Given the description of an element on the screen output the (x, y) to click on. 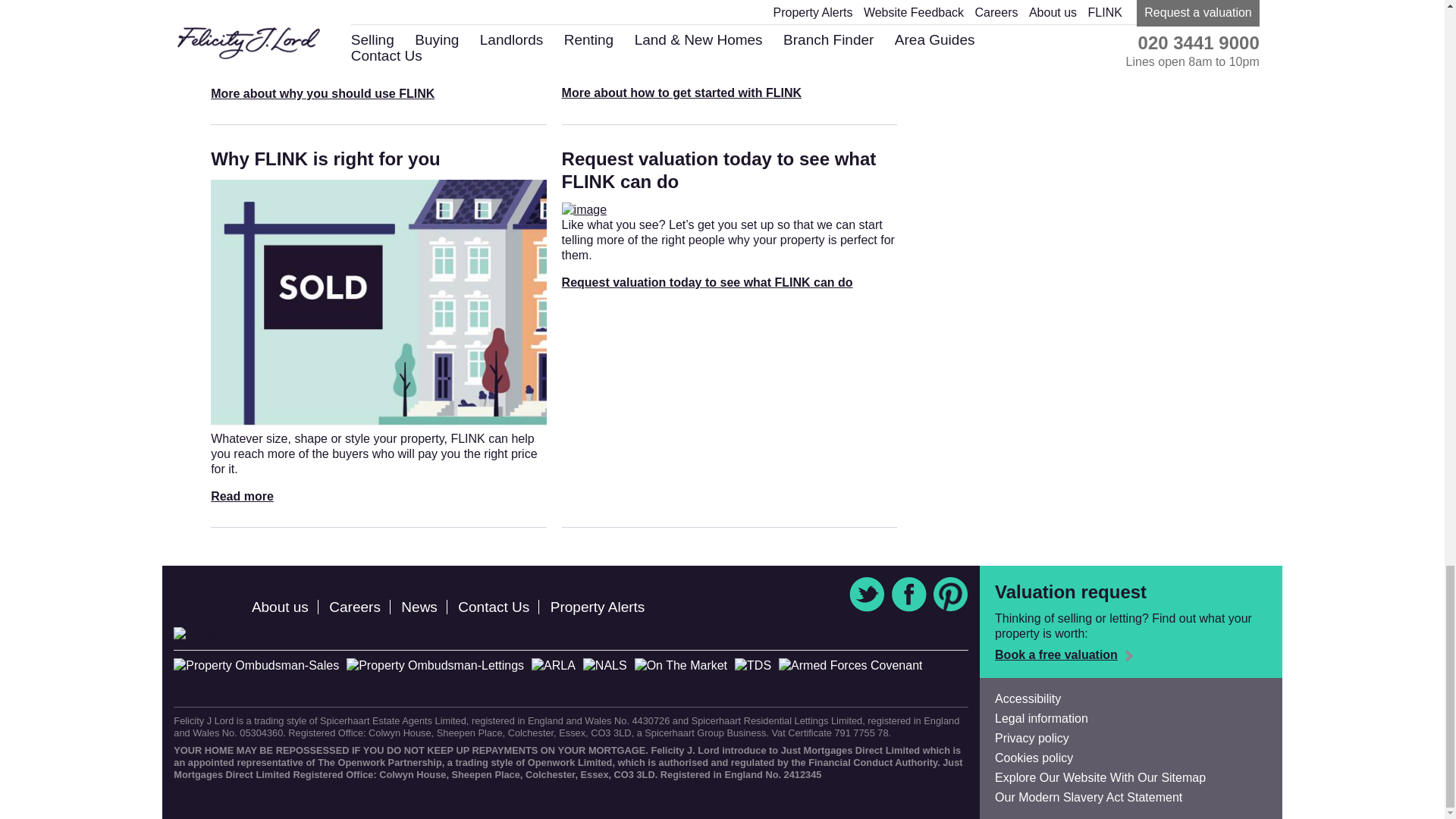
More about how to get started with FLINK (682, 92)
Read more (242, 496)
Request valuation today to see what FLINK can do (719, 169)
Request valuation today to see what FLINK can do (707, 282)
Why FLINK is right for you (326, 158)
More about why you should use FLINK (322, 93)
